Given the description of an element on the screen output the (x, y) to click on. 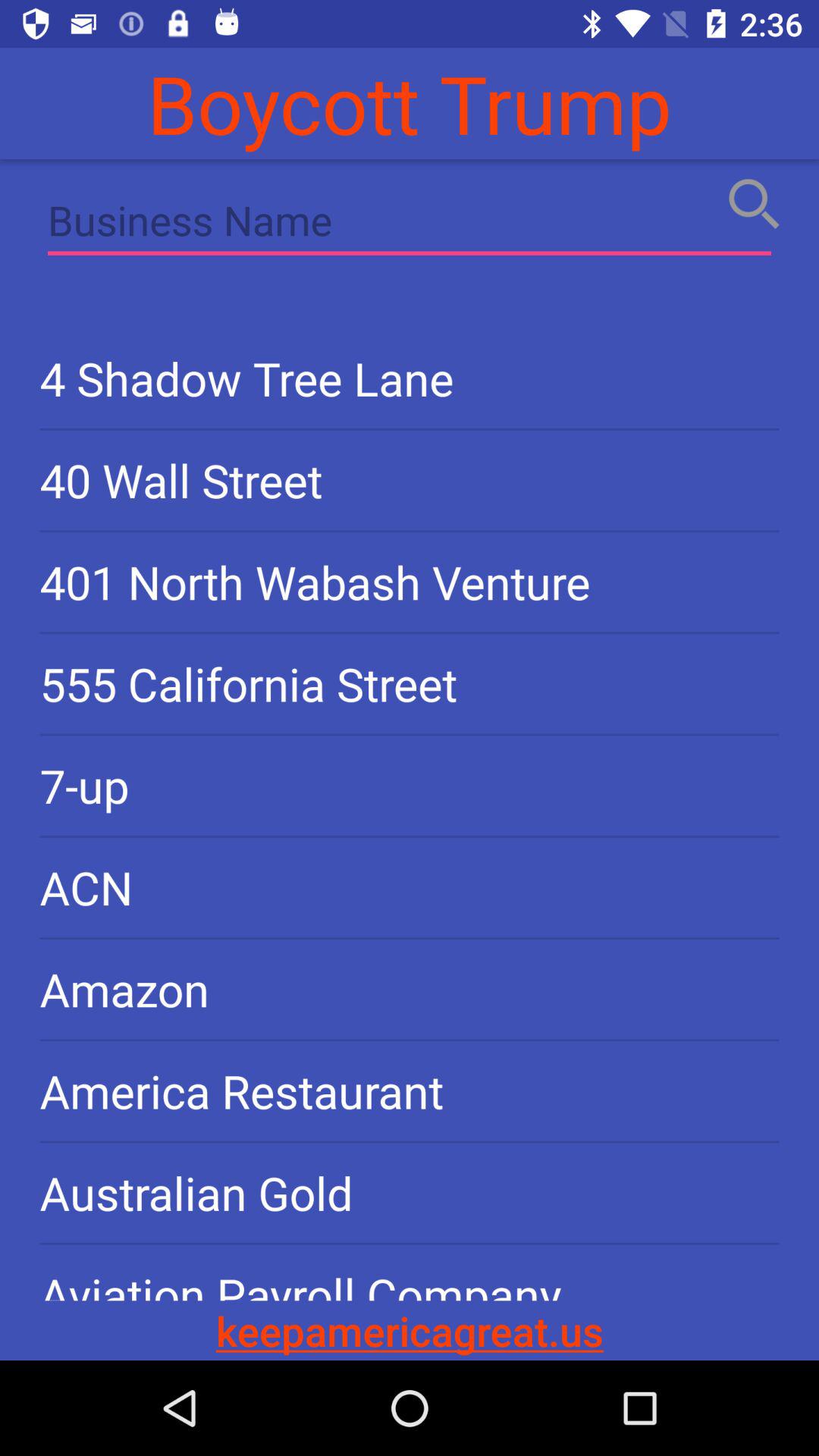
turn off icon below boycott trump icon (409, 224)
